Given the description of an element on the screen output the (x, y) to click on. 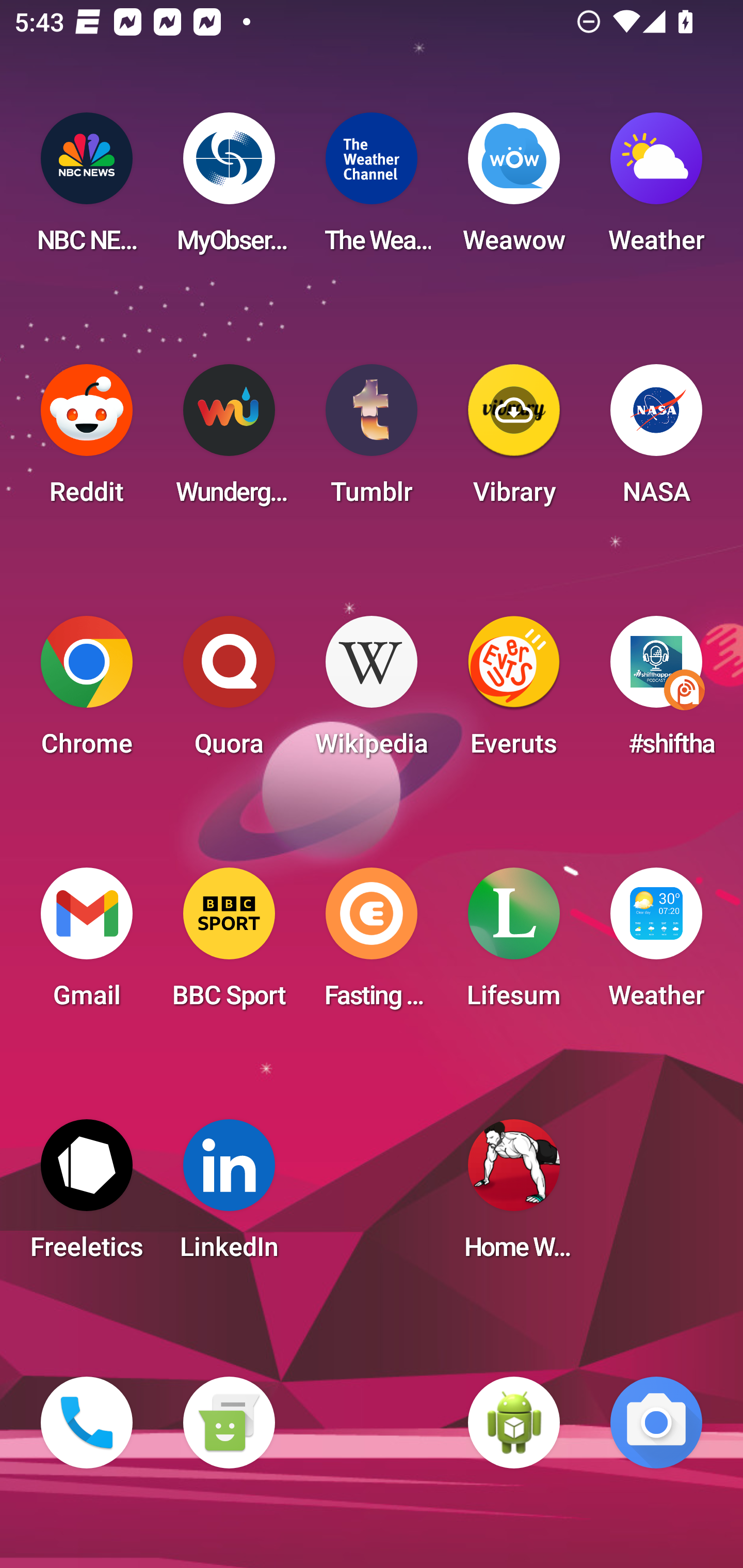
NBC NEWS (86, 188)
MyObservatory (228, 188)
The Weather Channel (371, 188)
Weawow (513, 188)
Weather (656, 188)
Reddit (86, 440)
Wunderground (228, 440)
Tumblr (371, 440)
Vibrary (513, 440)
NASA (656, 440)
Chrome (86, 692)
Quora (228, 692)
Wikipedia (371, 692)
Everuts (513, 692)
#shifthappens in the Digital Workplace Podcast (656, 692)
Gmail (86, 943)
BBC Sport (228, 943)
Fasting Coach (371, 943)
Lifesum (513, 943)
Weather (656, 943)
Freeletics (86, 1195)
LinkedIn (228, 1195)
Home Workout (513, 1195)
Phone (86, 1422)
Messaging (228, 1422)
WebView Browser Tester (513, 1422)
Camera (656, 1422)
